Given the description of an element on the screen output the (x, y) to click on. 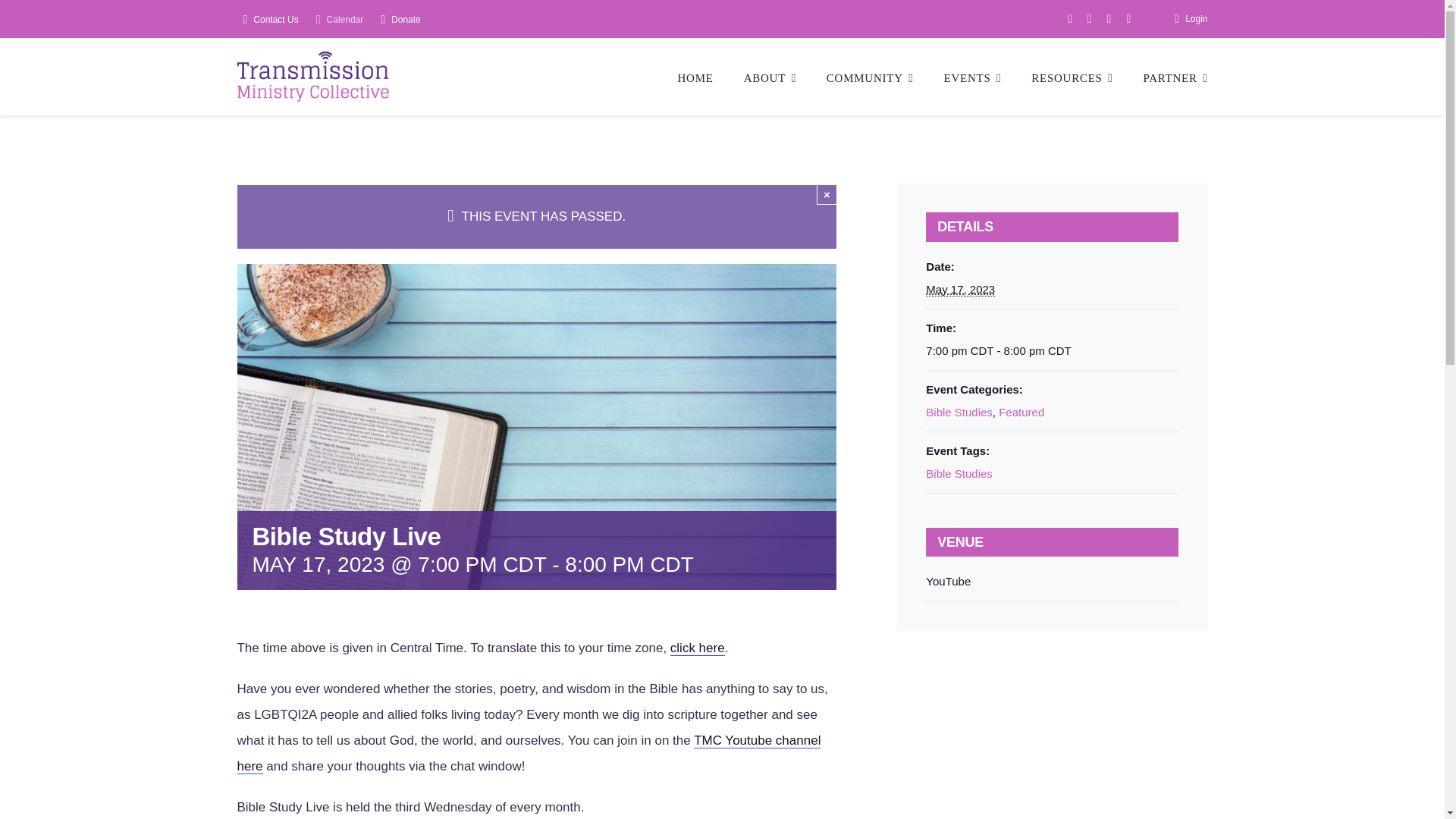
Contact Us (266, 19)
Login (1188, 18)
ABOUT (770, 76)
Calendar (337, 19)
Donate (397, 19)
2023-05-17 (1051, 350)
COMMUNITY (870, 76)
2023-05-17 (960, 289)
